Given the description of an element on the screen output the (x, y) to click on. 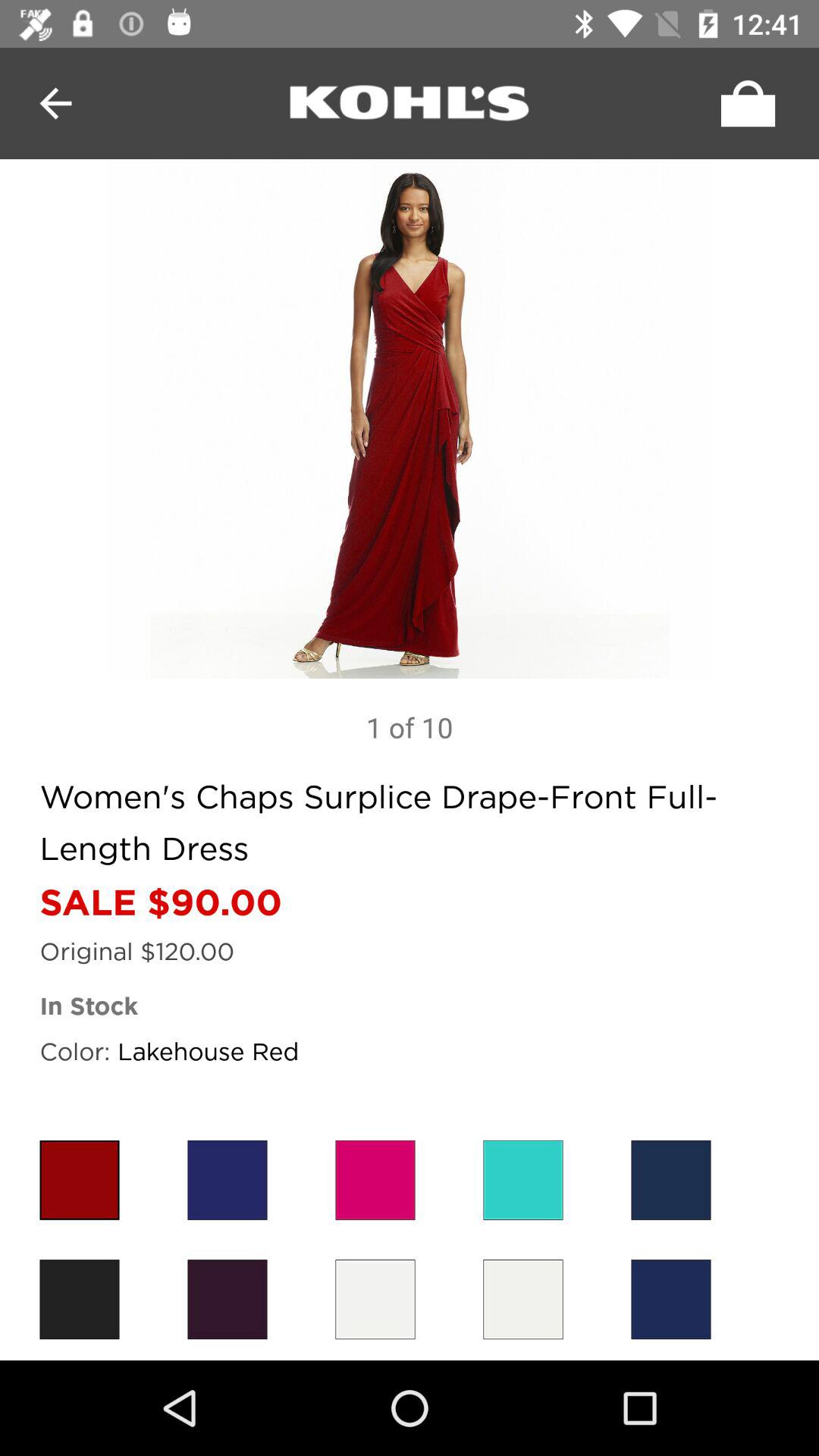
change dress color (79, 1299)
